Given the description of an element on the screen output the (x, y) to click on. 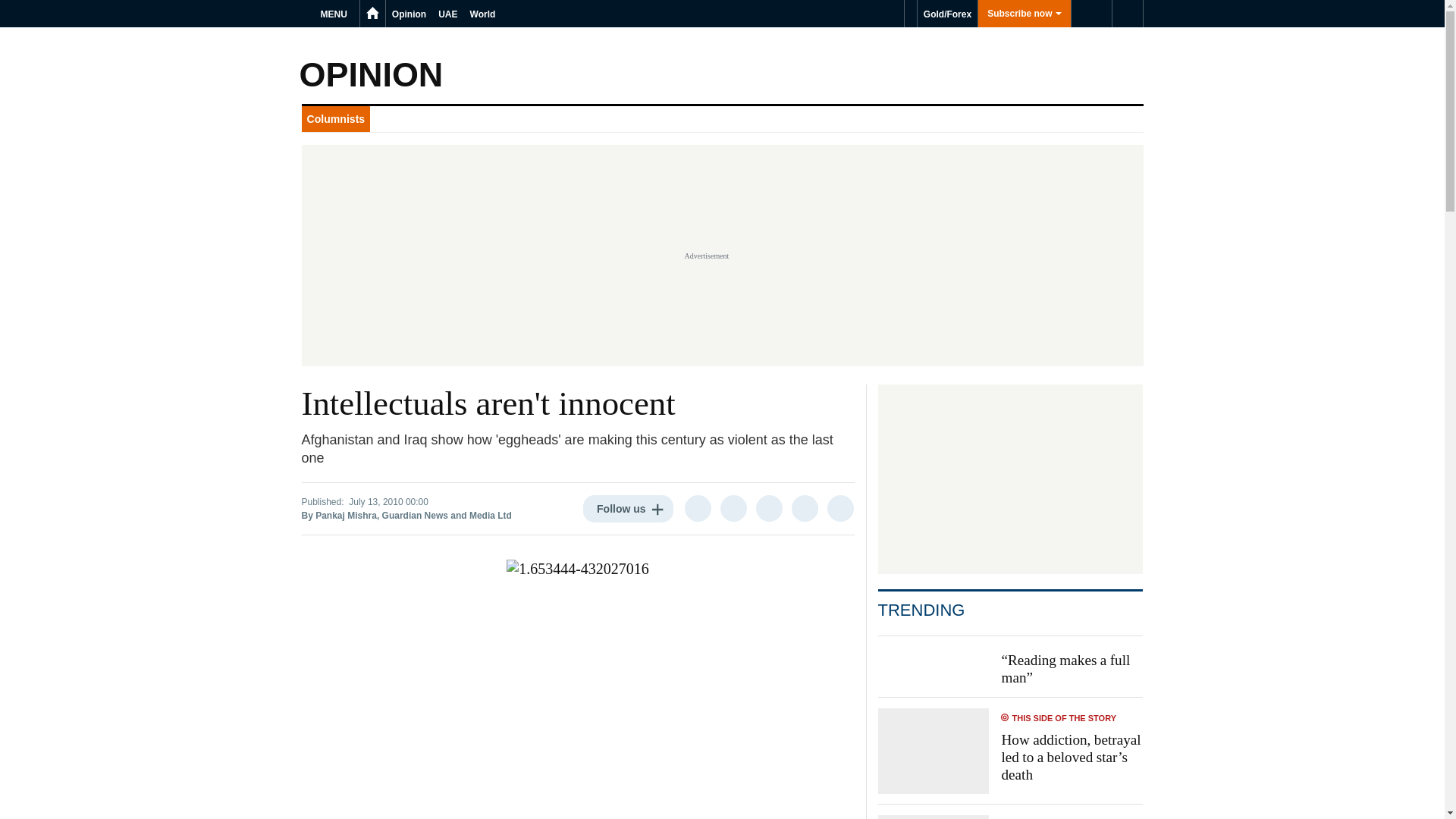
Opinion (408, 13)
MENU (336, 13)
World (483, 13)
Subscribe now (1024, 13)
UAE (447, 13)
